Given the description of an element on the screen output the (x, y) to click on. 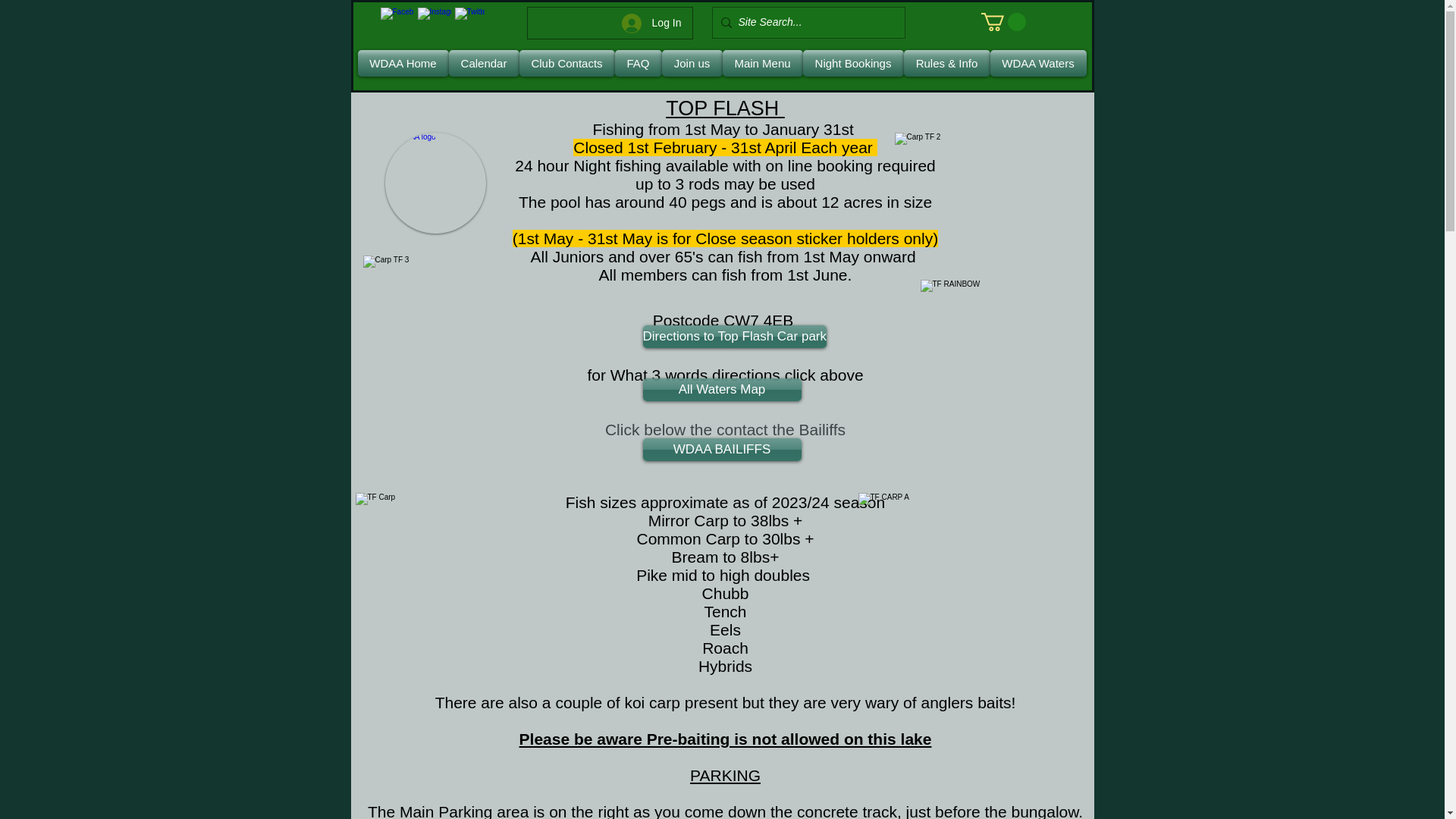
Directions to Top Flash Car park (735, 336)
Club Contacts (566, 62)
All Waters Map (722, 389)
WDAA BAILIFFS (722, 449)
Join us (691, 62)
FAQ (637, 62)
Log In (652, 23)
Night Bookings (852, 62)
WDAA Waters (1038, 62)
Calendar (483, 62)
Main Menu (762, 62)
WDAA Home (403, 62)
